Given the description of an element on the screen output the (x, y) to click on. 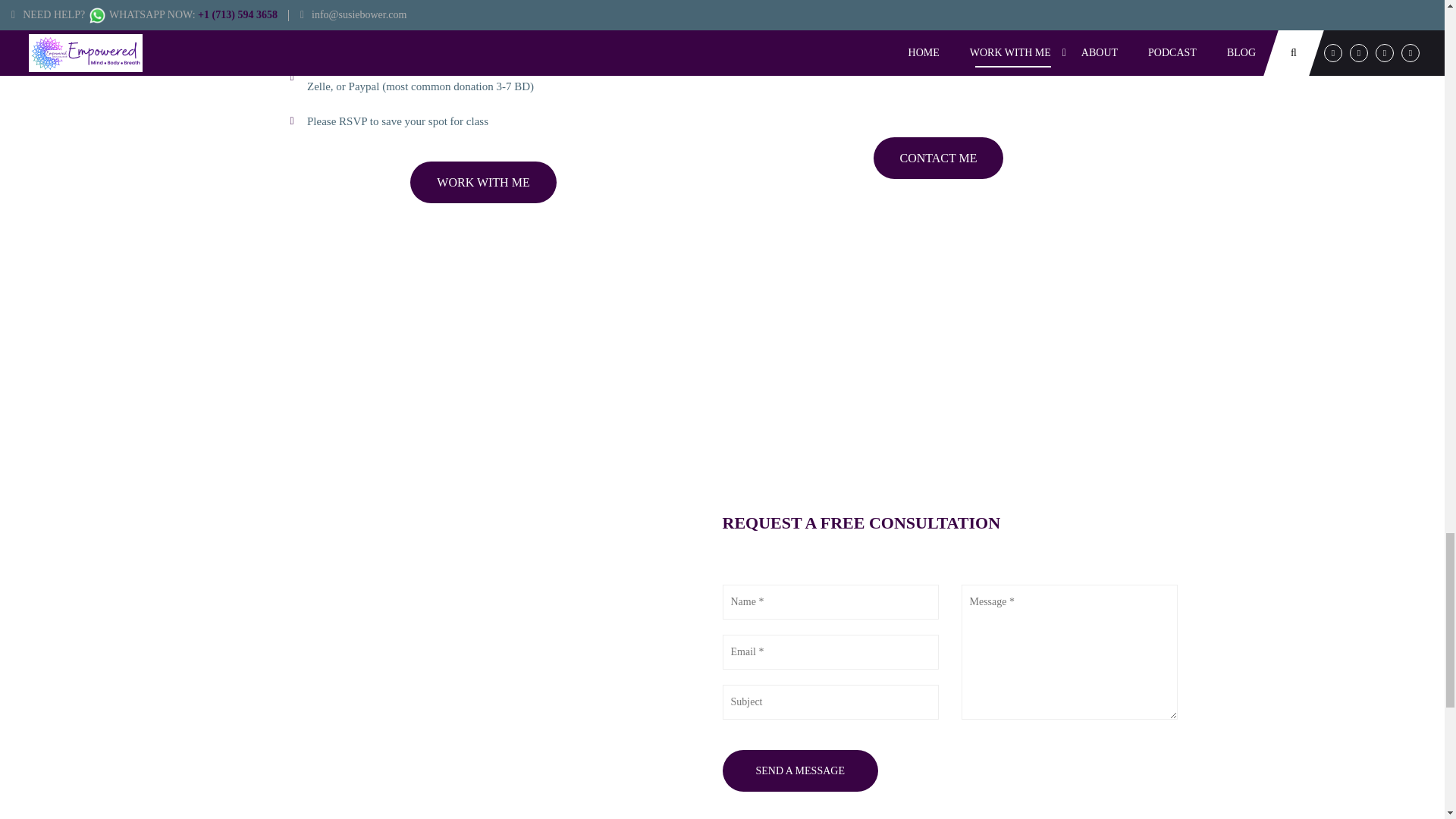
Send A Message (799, 770)
